Given the description of an element on the screen output the (x, y) to click on. 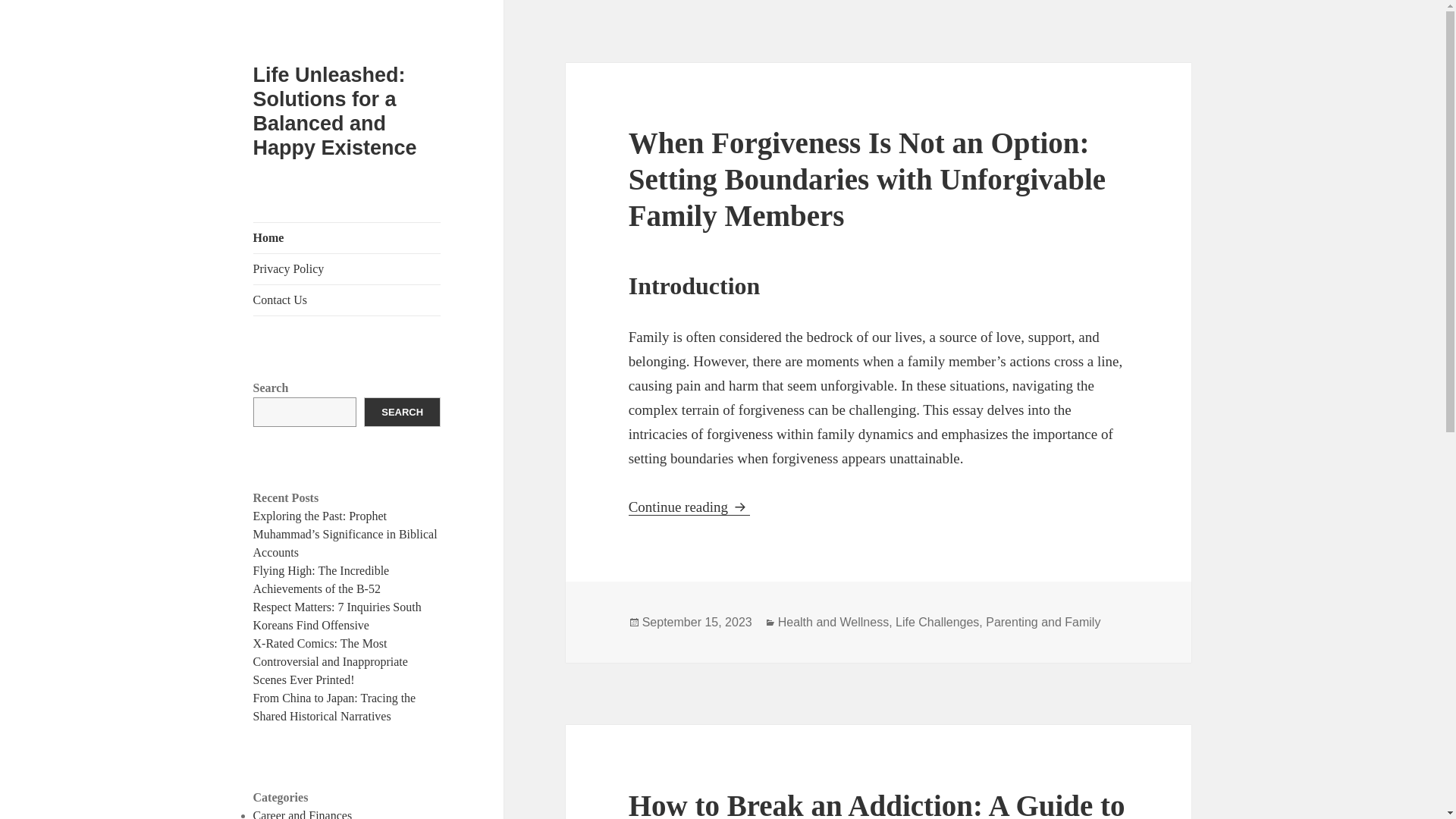
Flying High: The Incredible Achievements of the B-52 (321, 579)
September 15, 2023 (697, 622)
Life Challenges (936, 622)
Respect Matters: 7 Inquiries South Koreans Find Offensive (337, 615)
Home (347, 237)
Health and Wellness (832, 622)
